Given the description of an element on the screen output the (x, y) to click on. 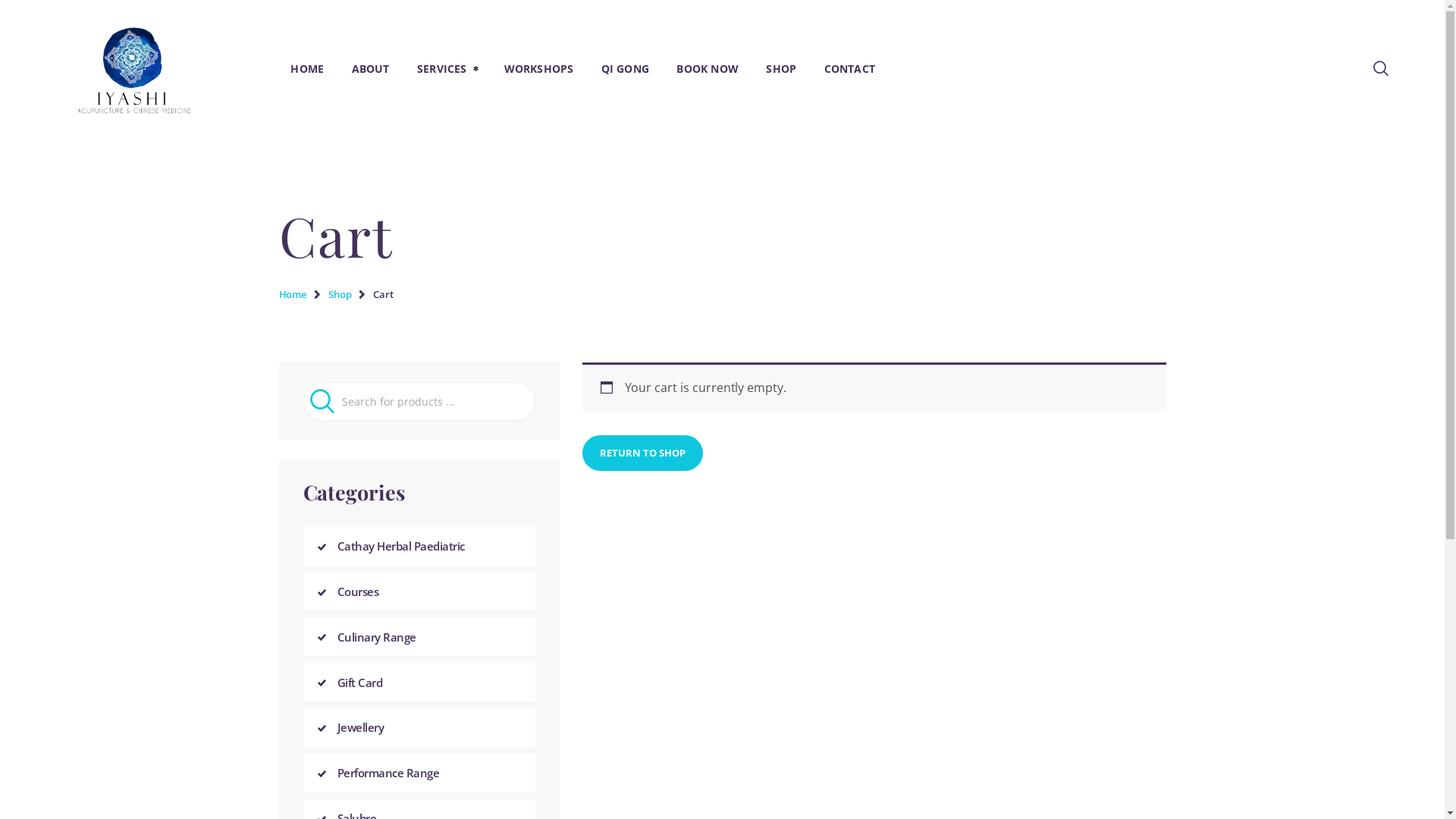
Courses Element type: text (357, 591)
Performance Range Element type: text (387, 772)
SEARCH Element type: text (322, 401)
SERVICES Element type: text (446, 68)
Gift Card Element type: text (359, 682)
WORKSHOPS Element type: text (537, 68)
Cathay Herbal Paediatric Element type: text (400, 545)
BOOK NOW Element type: text (707, 68)
Shop Element type: text (339, 294)
SHOP Element type: text (780, 68)
Home Element type: text (293, 294)
QI GONG Element type: text (624, 68)
Culinary Range Element type: text (375, 636)
CONTACT Element type: text (848, 68)
Jewellery Element type: text (359, 726)
HOME Element type: text (306, 68)
RETURN TO SHOP Element type: text (642, 452)
ABOUT Element type: text (369, 68)
